Given the description of an element on the screen output the (x, y) to click on. 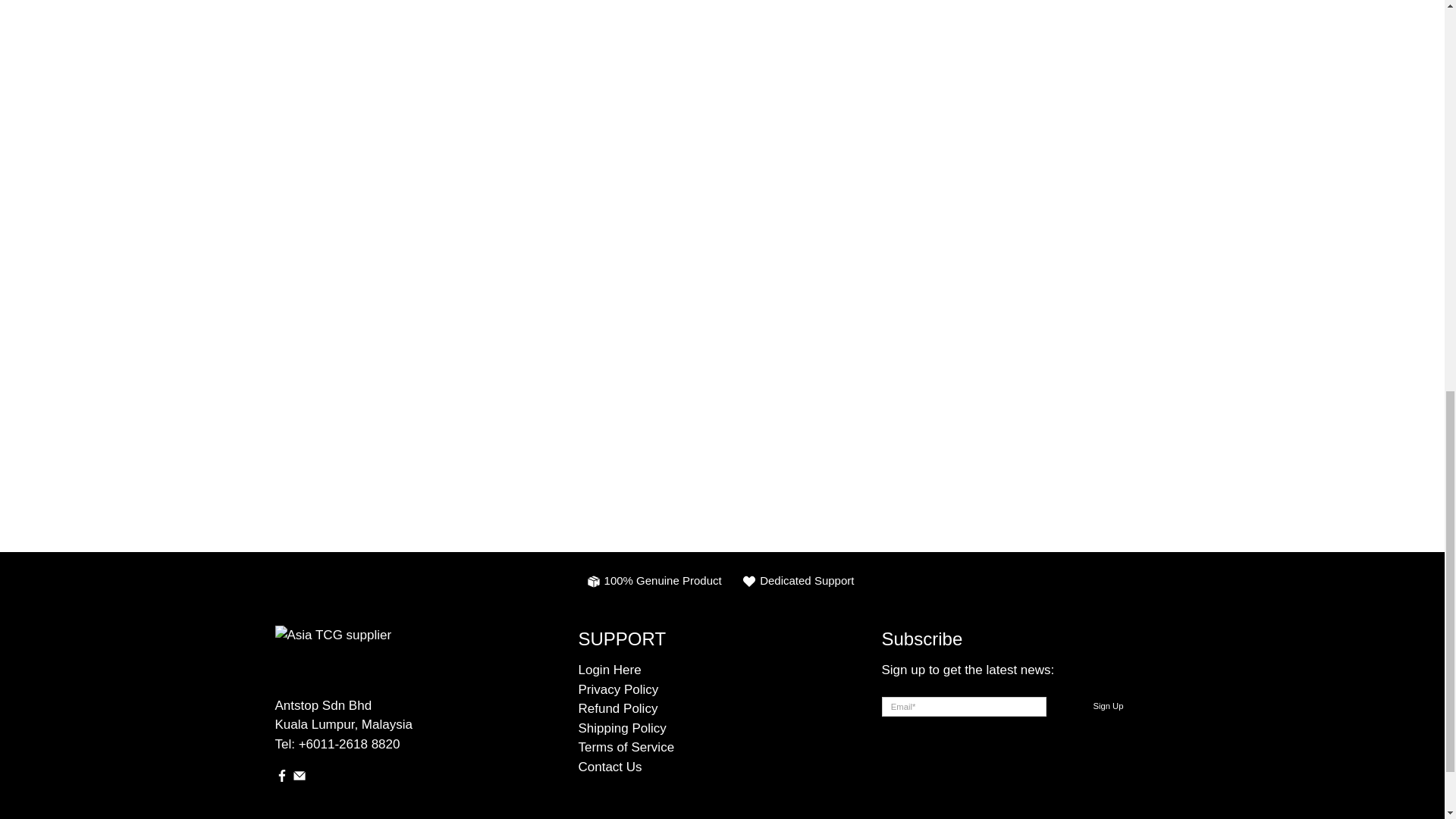
Antstop (390, 660)
Antstop on Facebook (281, 778)
Email Antstop (298, 778)
